Given the description of an element on the screen output the (x, y) to click on. 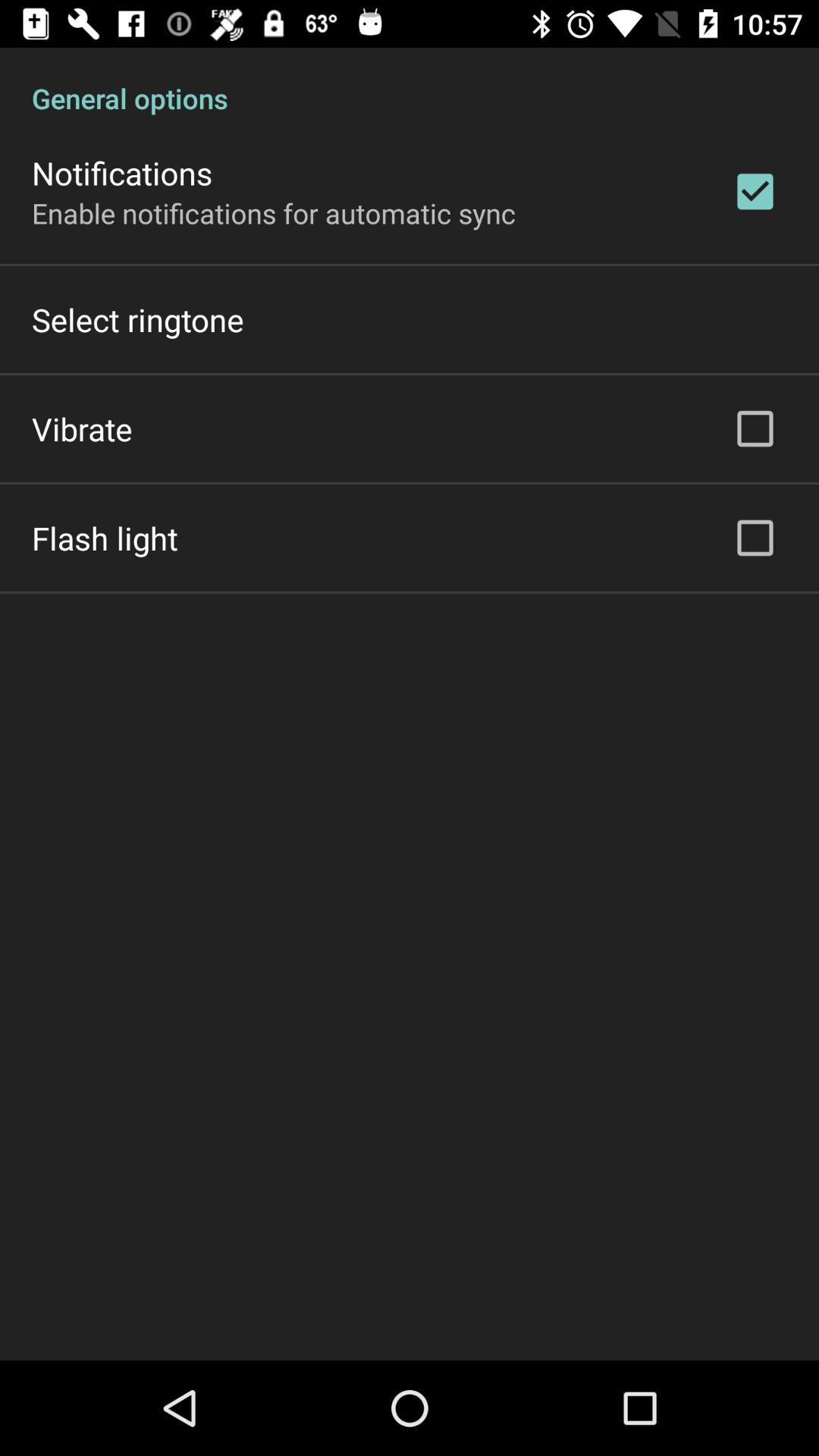
turn off item below the notifications item (273, 213)
